Given the description of an element on the screen output the (x, y) to click on. 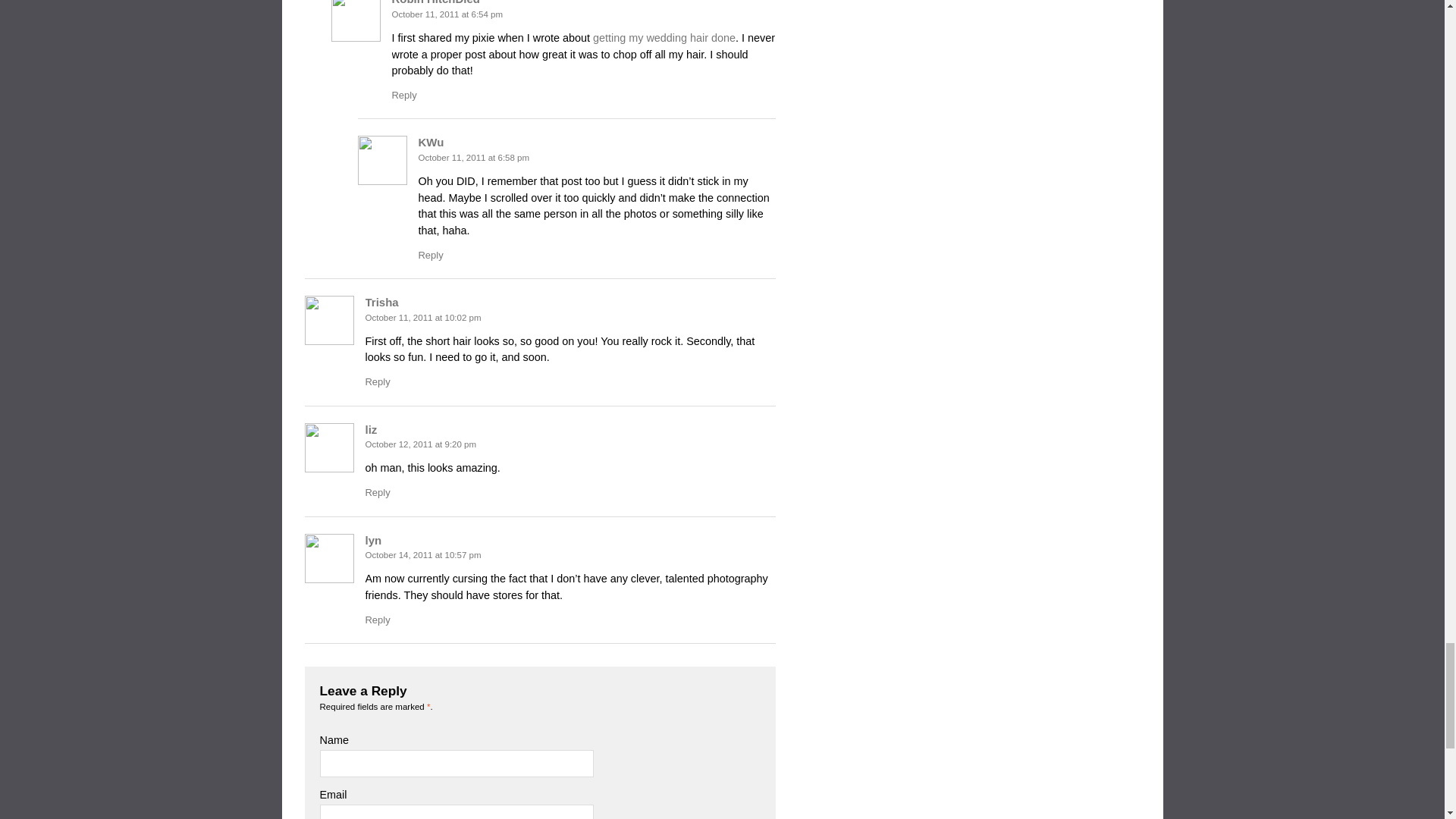
Robin HitchDied (435, 2)
getting my wedding hair done (663, 37)
KWu (431, 141)
October 11, 2011 at 6:58 pm (474, 157)
Reply (431, 255)
October 11, 2011 at 6:54 pm (446, 13)
Reply (403, 94)
